Given the description of an element on the screen output the (x, y) to click on. 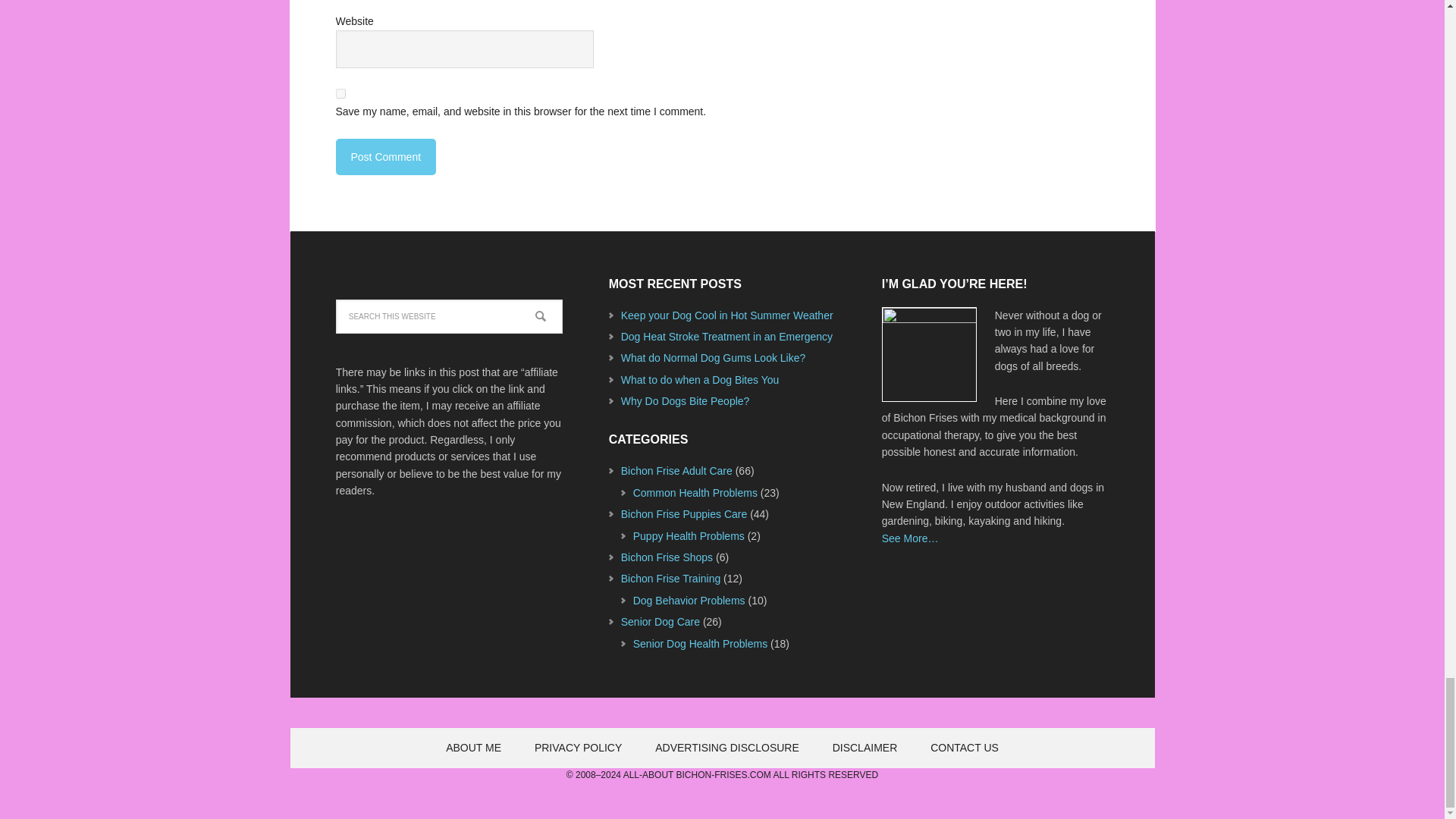
Post Comment (384, 156)
yes (339, 93)
Post Comment (384, 156)
